Given the description of an element on the screen output the (x, y) to click on. 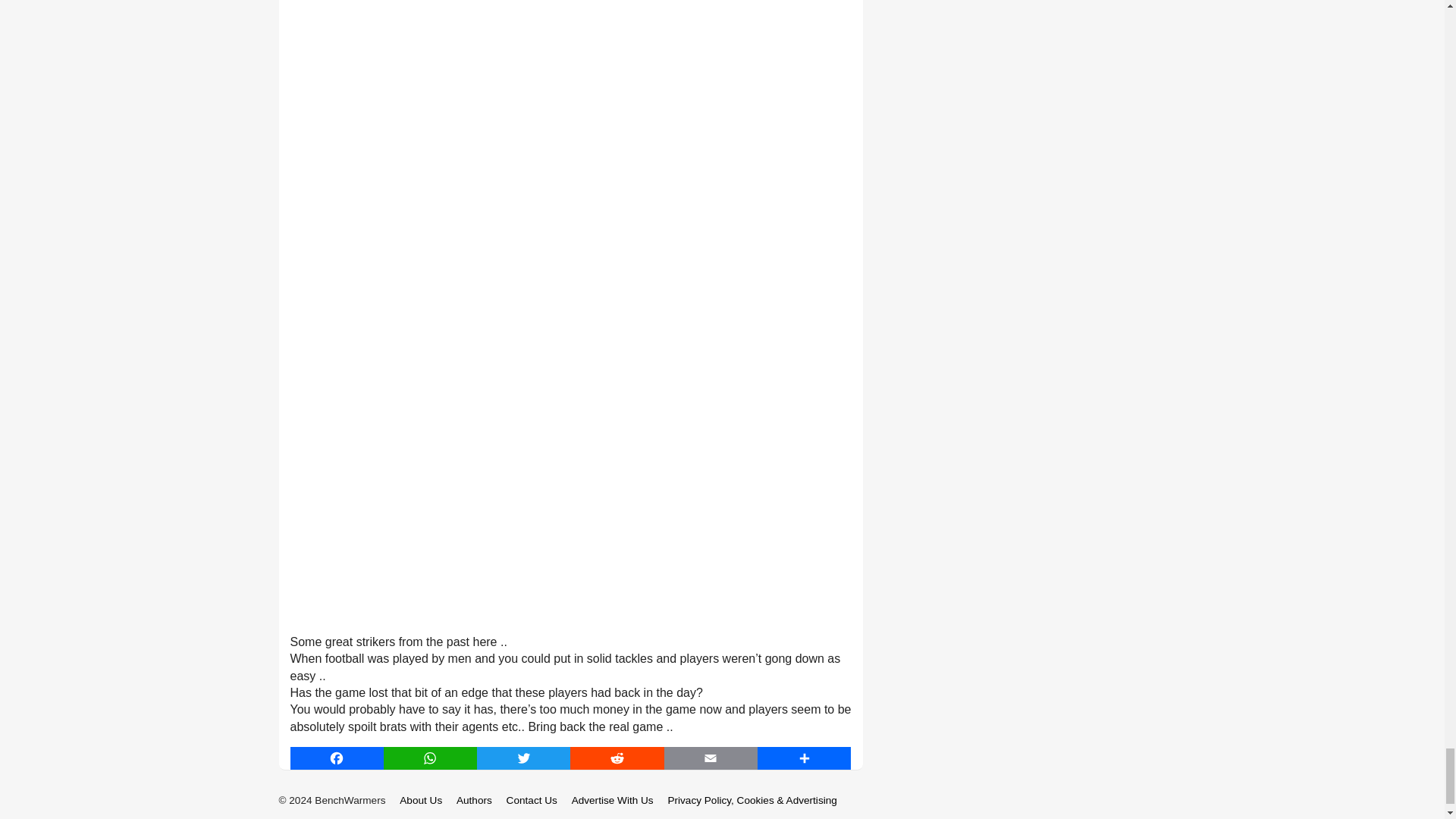
Facebook (335, 757)
WhatsApp (430, 757)
Reddit (616, 757)
Twitter (523, 757)
Email (710, 757)
Share (803, 757)
